Given the description of an element on the screen output the (x, y) to click on. 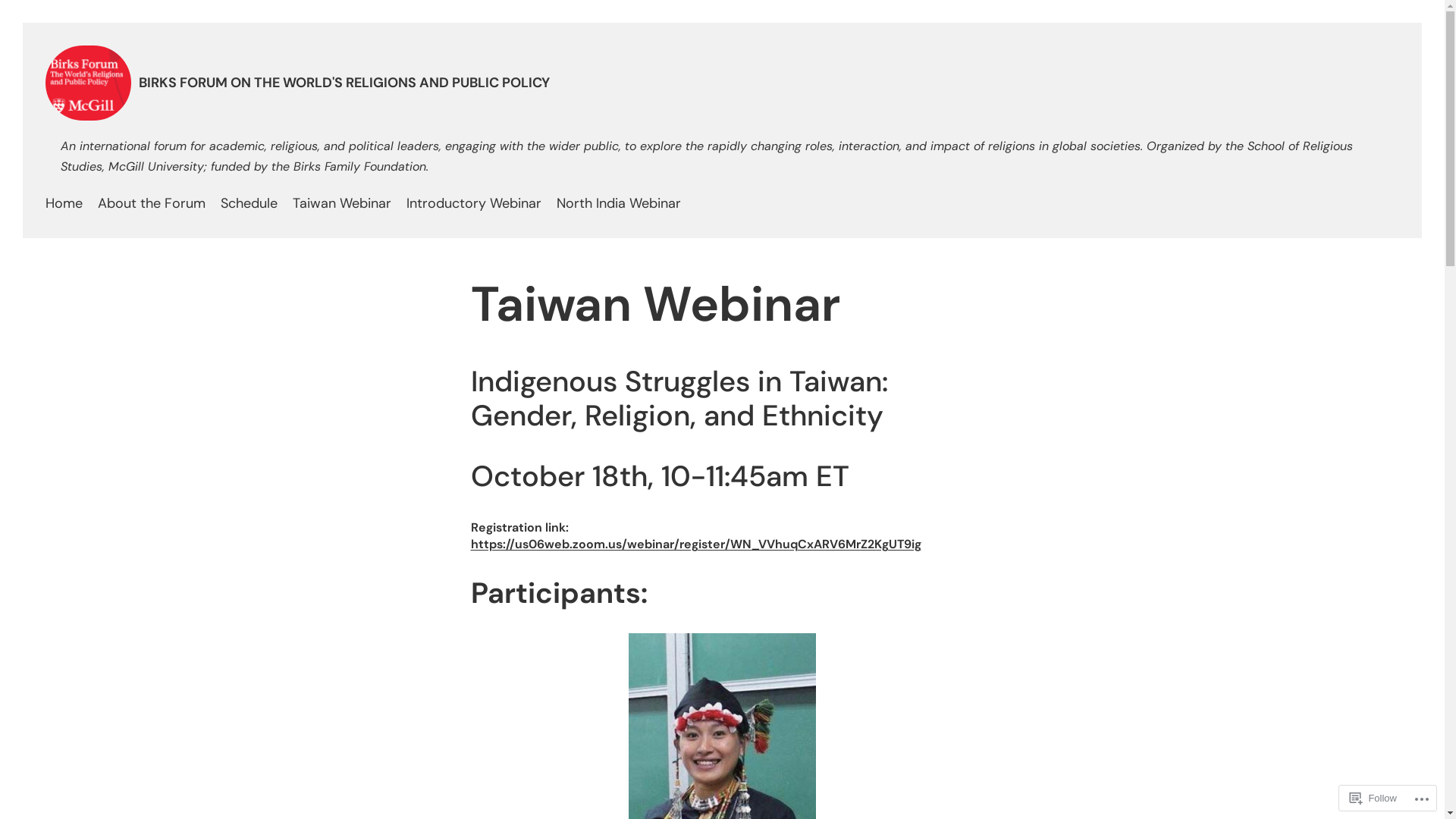
Introductory Webinar Element type: text (473, 203)
Follow Element type: text (1372, 797)
Schedule Element type: text (248, 203)
About the Forum Element type: text (151, 203)
North India Webinar Element type: text (618, 203)
BIRKS FORUM ON THE WORLD'S RELIGIONS AND PUBLIC POLICY Element type: text (343, 82)
Home Element type: text (63, 203)
Taiwan Webinar Element type: text (341, 203)
